Given the description of an element on the screen output the (x, y) to click on. 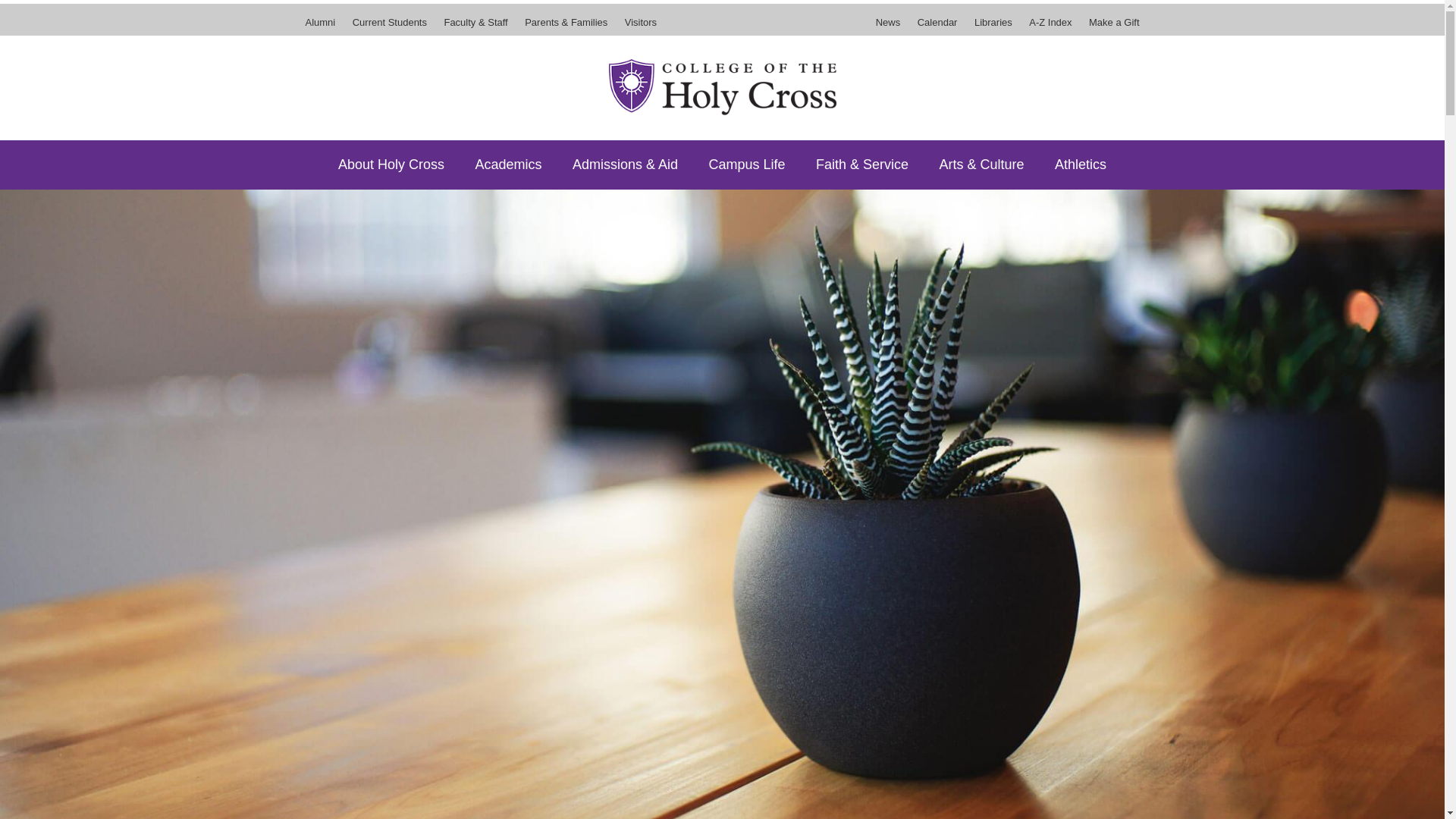
A-Z Index (1050, 27)
News (891, 27)
Academics (507, 164)
Libraries (993, 27)
College of the Holy Cross Home (721, 86)
Current Students (389, 27)
Visitors (636, 27)
About Holy Cross (391, 164)
Calendar (937, 27)
Alumni (323, 27)
Make a Gift (1109, 27)
